Given the description of an element on the screen output the (x, y) to click on. 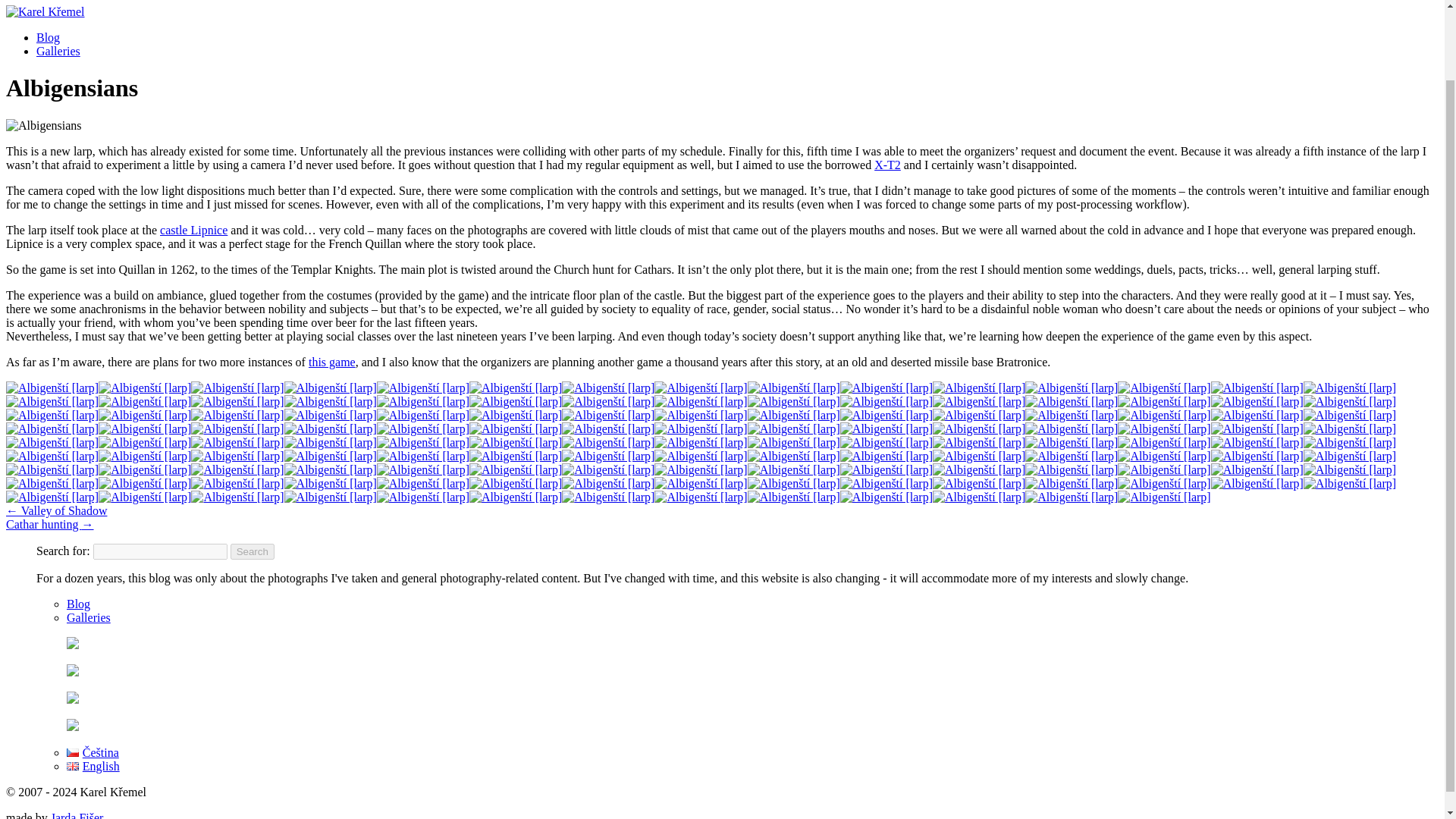
this game (331, 361)
castle Lipnice (193, 229)
Search (252, 551)
Blog (47, 37)
X-T2 (888, 164)
Galleries (58, 51)
